Given the description of an element on the screen output the (x, y) to click on. 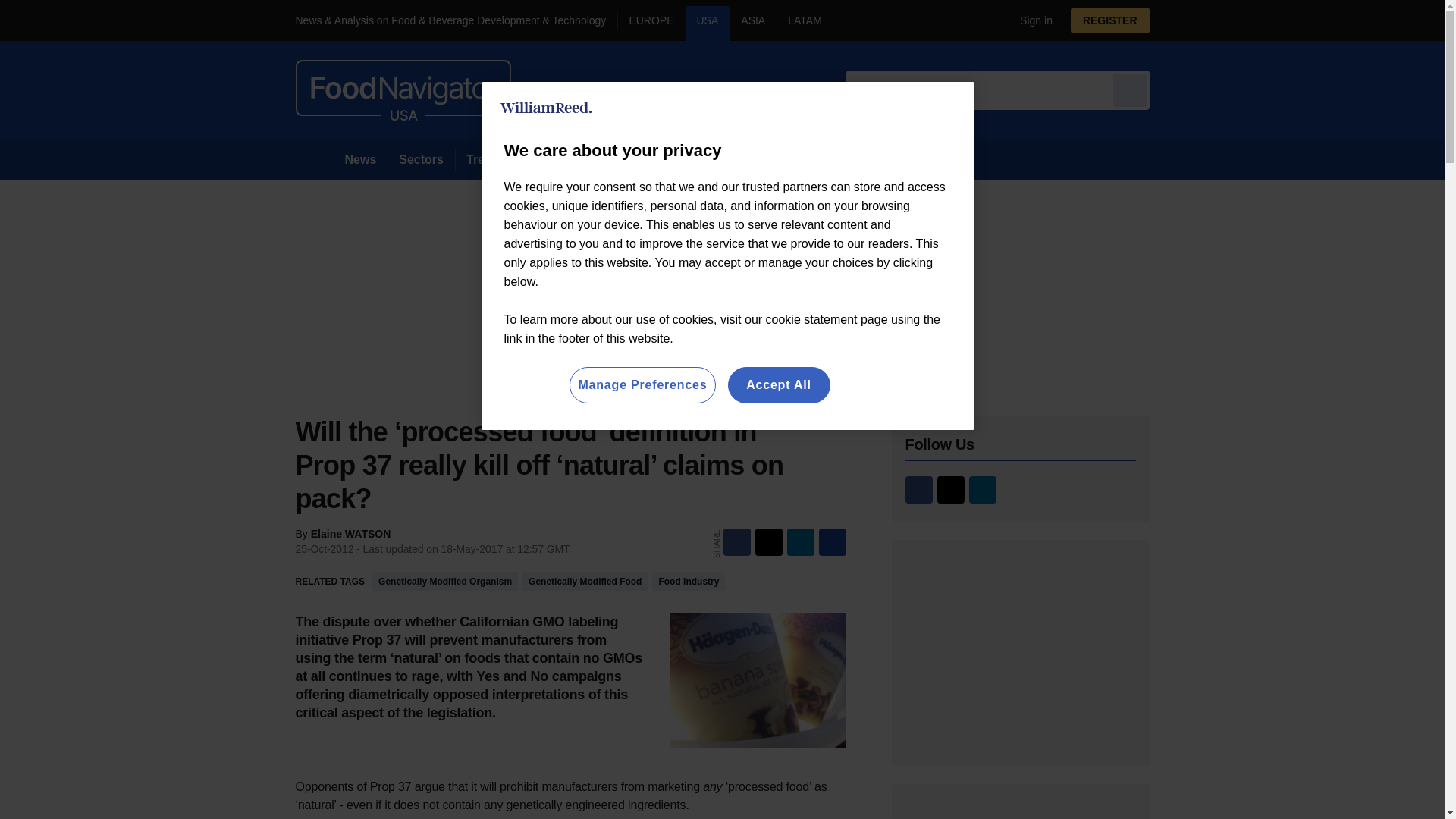
LATAM (804, 22)
ASIA (752, 22)
Home (314, 159)
Sectors (420, 159)
Home (313, 159)
3rd party ad content (1020, 652)
EUROPE (650, 22)
My account (1114, 20)
FoodNavigator USA (403, 89)
Send (1129, 90)
USA (707, 22)
William Reed (545, 107)
Sign out (1032, 20)
News (360, 159)
Send (1129, 89)
